Given the description of an element on the screen output the (x, y) to click on. 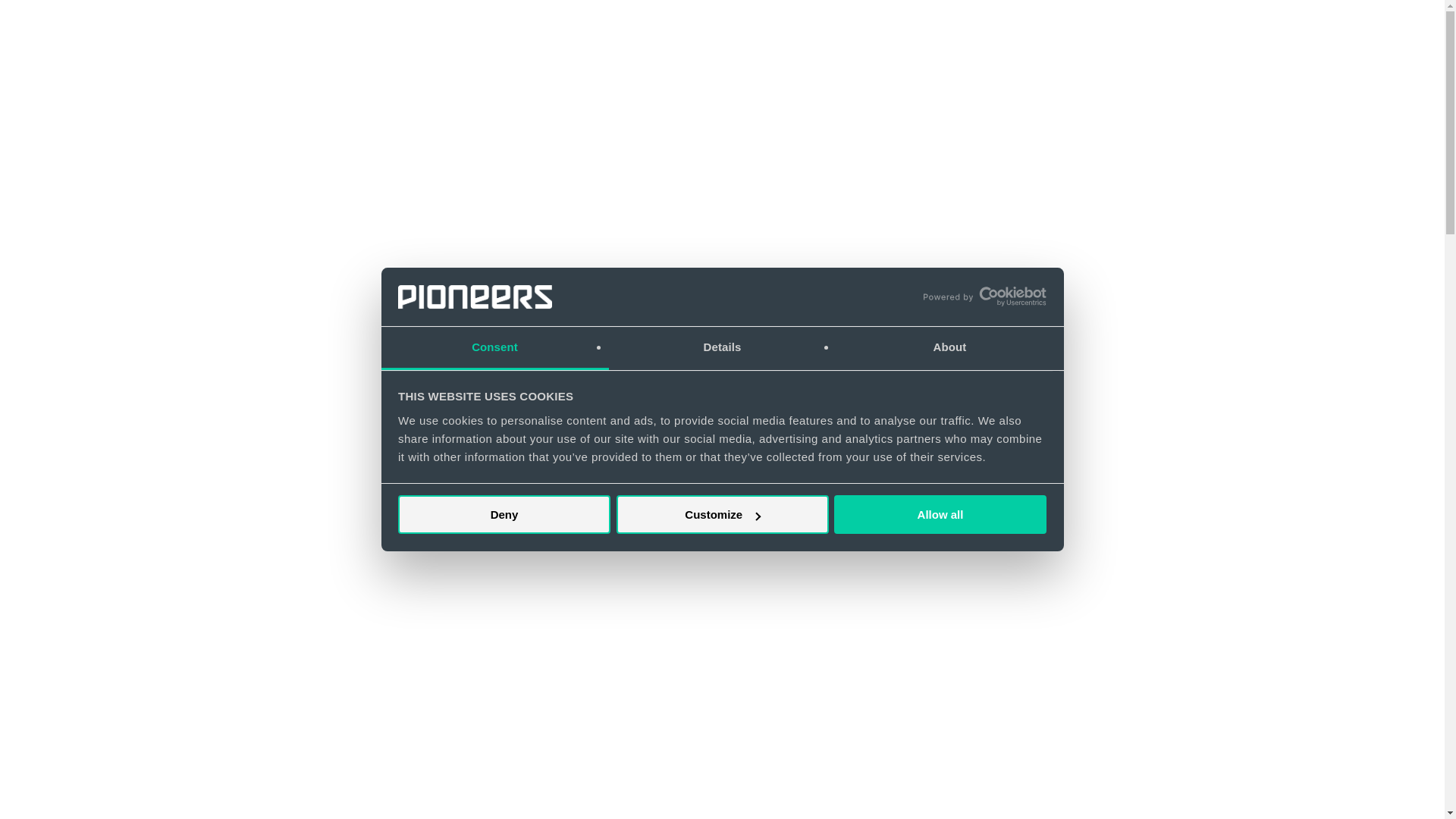
About (948, 348)
Details (721, 348)
Consent (494, 348)
Posts by Richard Asher (675, 286)
